Given the description of an element on the screen output the (x, y) to click on. 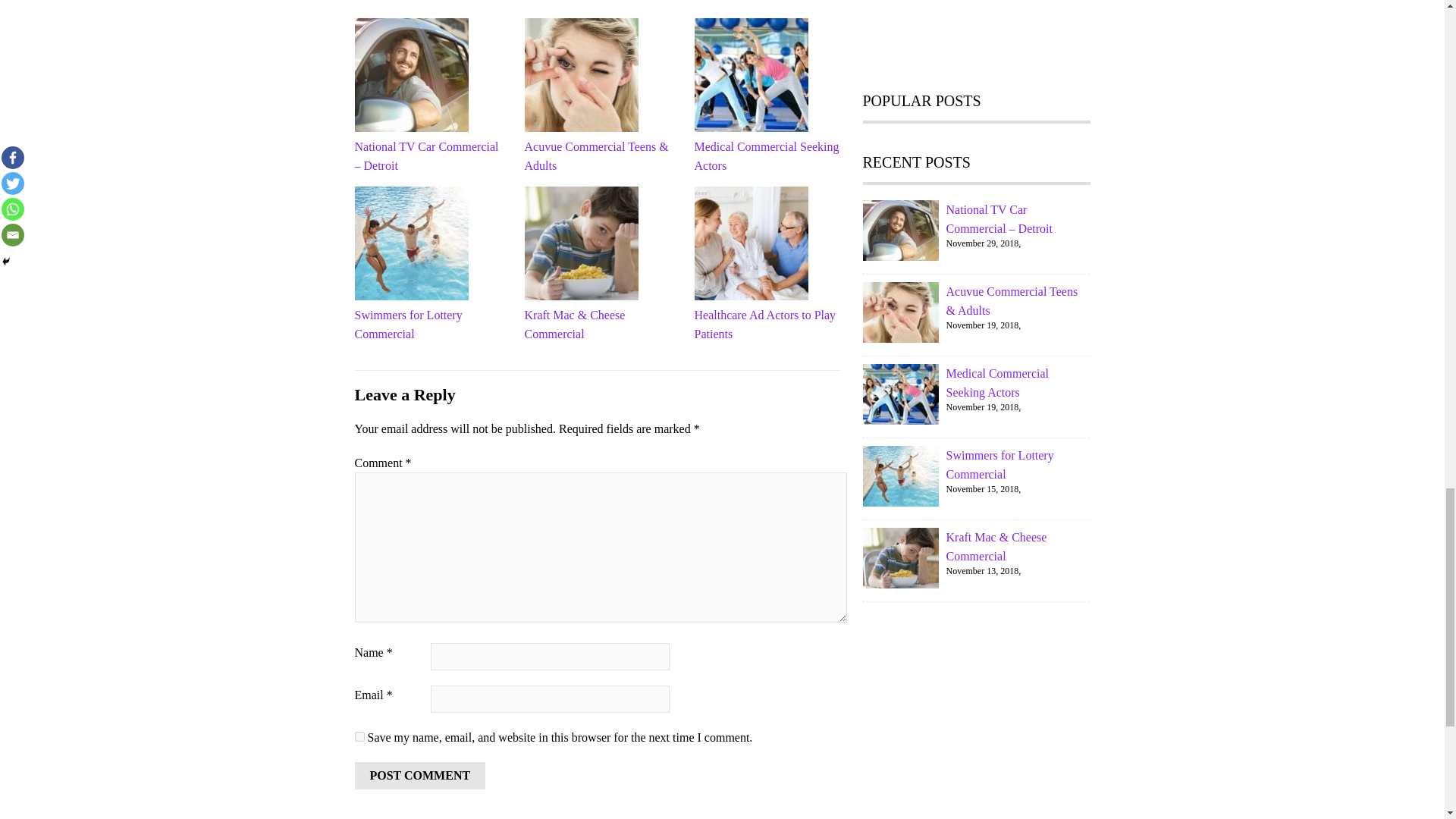
yes (360, 737)
Post Comment (420, 775)
